Given the description of an element on the screen output the (x, y) to click on. 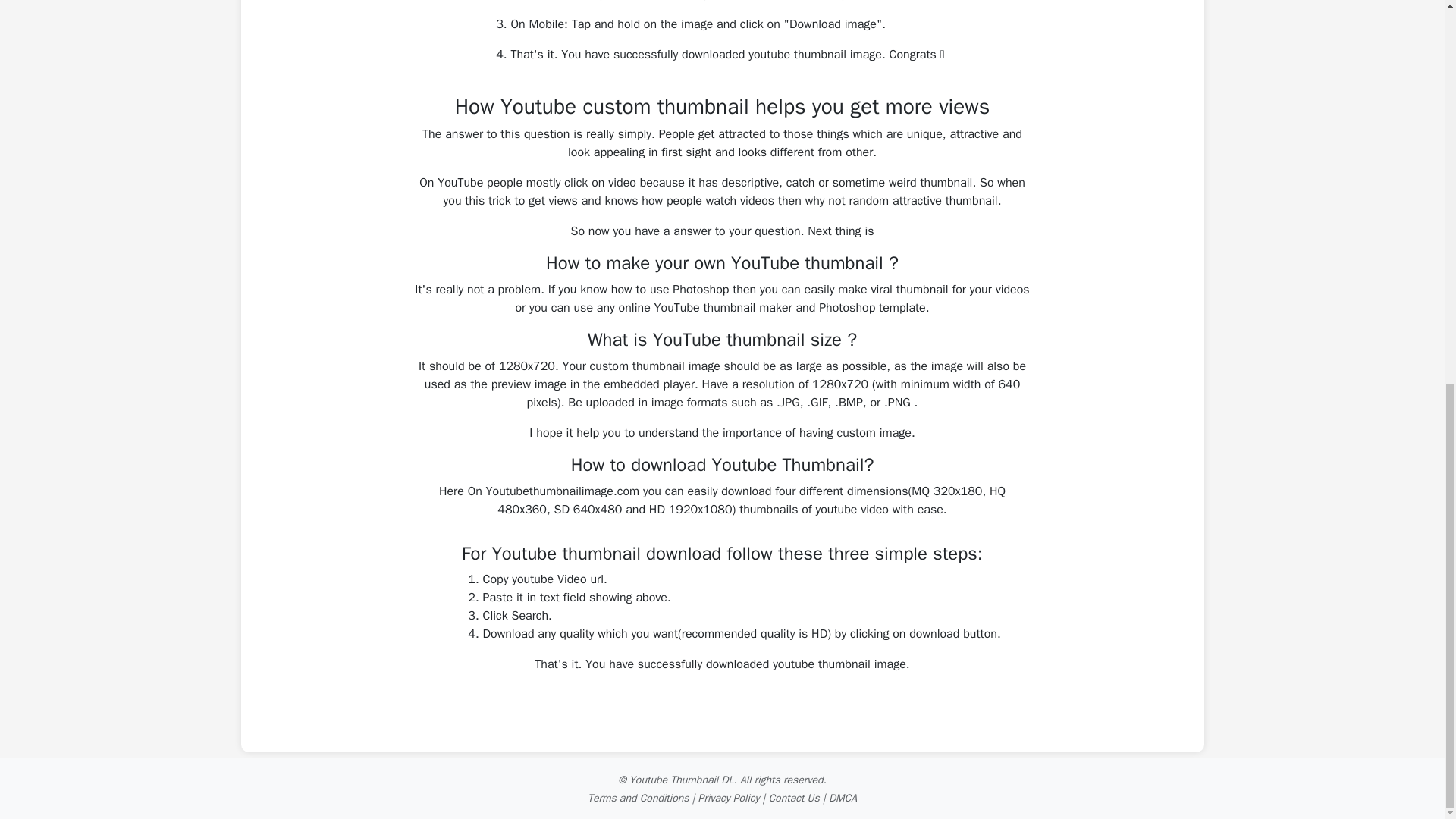
Terms and Conditions (638, 797)
Privacy Policy (729, 797)
DMCA (842, 797)
Contact Us (793, 797)
